Given the description of an element on the screen output the (x, y) to click on. 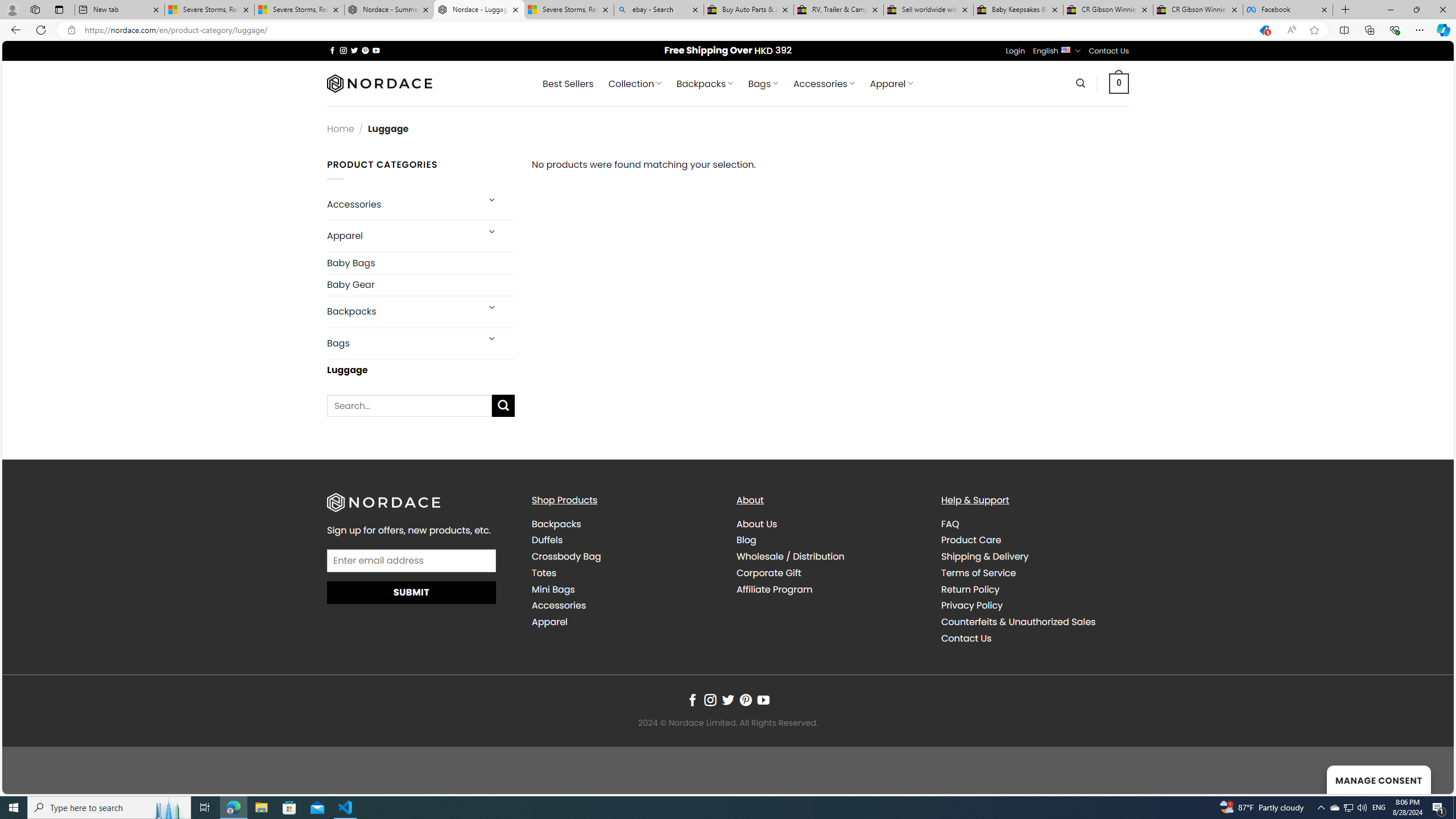
Follow on Facebook (691, 700)
Copilot (Ctrl+Shift+.) (1442, 29)
 0  (1118, 83)
Baby Gear (421, 284)
Apparel (549, 621)
Accessories (558, 605)
Tab actions menu (58, 9)
Apparel (625, 622)
Totes (625, 572)
Nordace (379, 83)
Wholesale / Distribution (830, 556)
Return Policy (1034, 589)
Settings and more (Alt+F) (1419, 29)
Shipping & Delivery (984, 556)
